Given the description of an element on the screen output the (x, y) to click on. 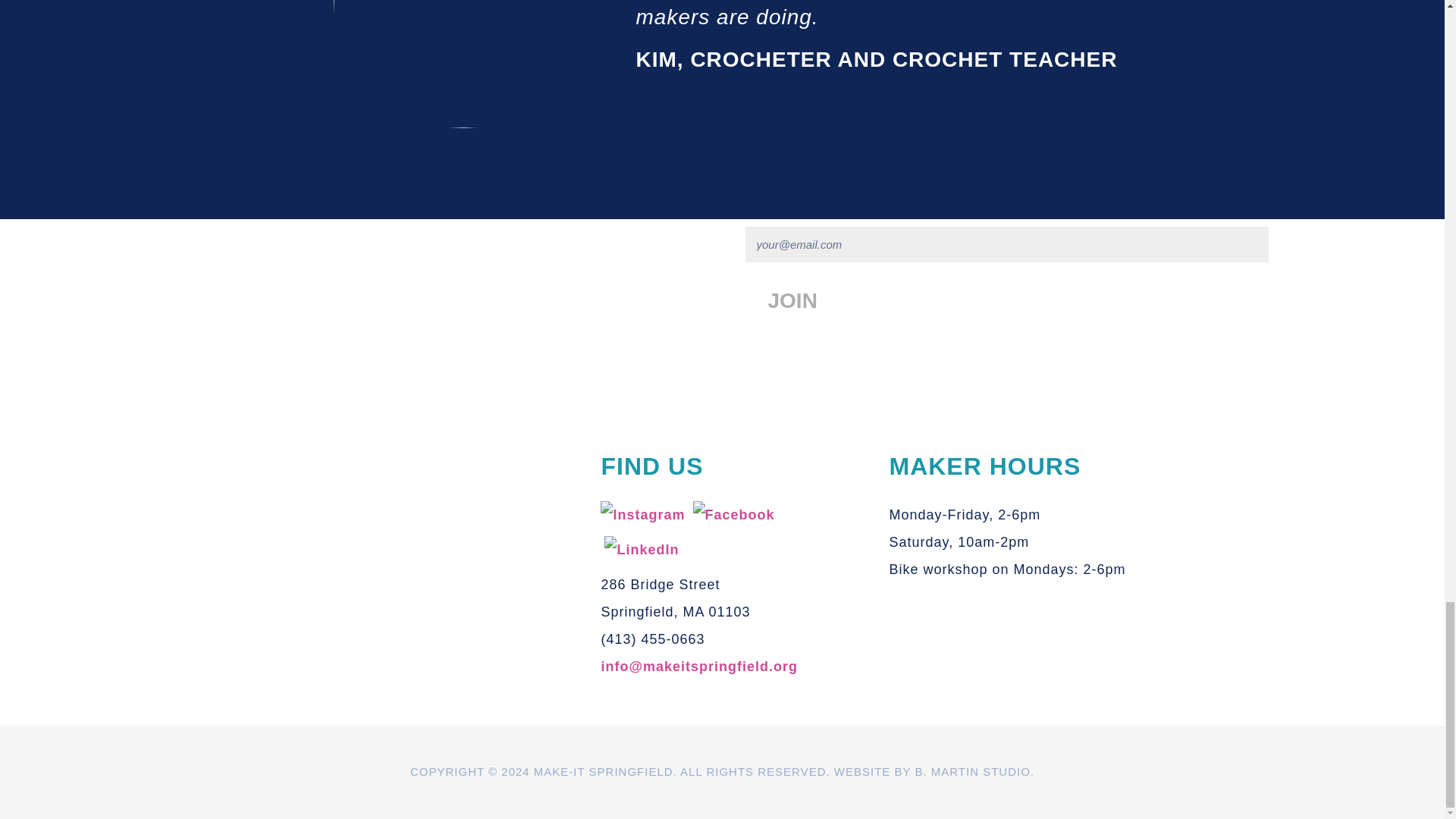
Join (792, 300)
Join (792, 300)
Website by B. Martin Studio (971, 771)
B. MARTIN STUDIO (971, 771)
